Given the description of an element on the screen output the (x, y) to click on. 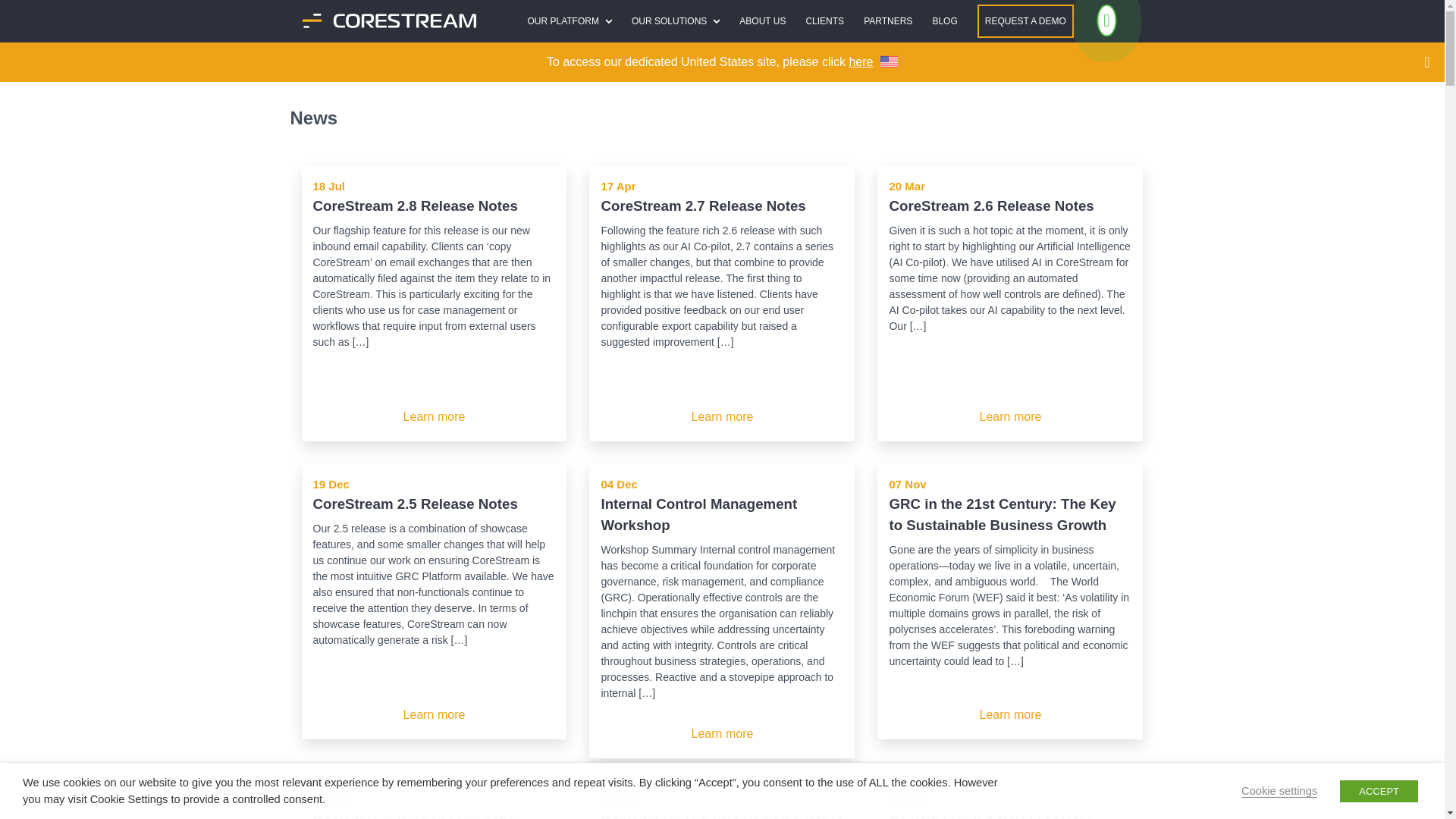
OUR PLATFORM (568, 21)
